Given the description of an element on the screen output the (x, y) to click on. 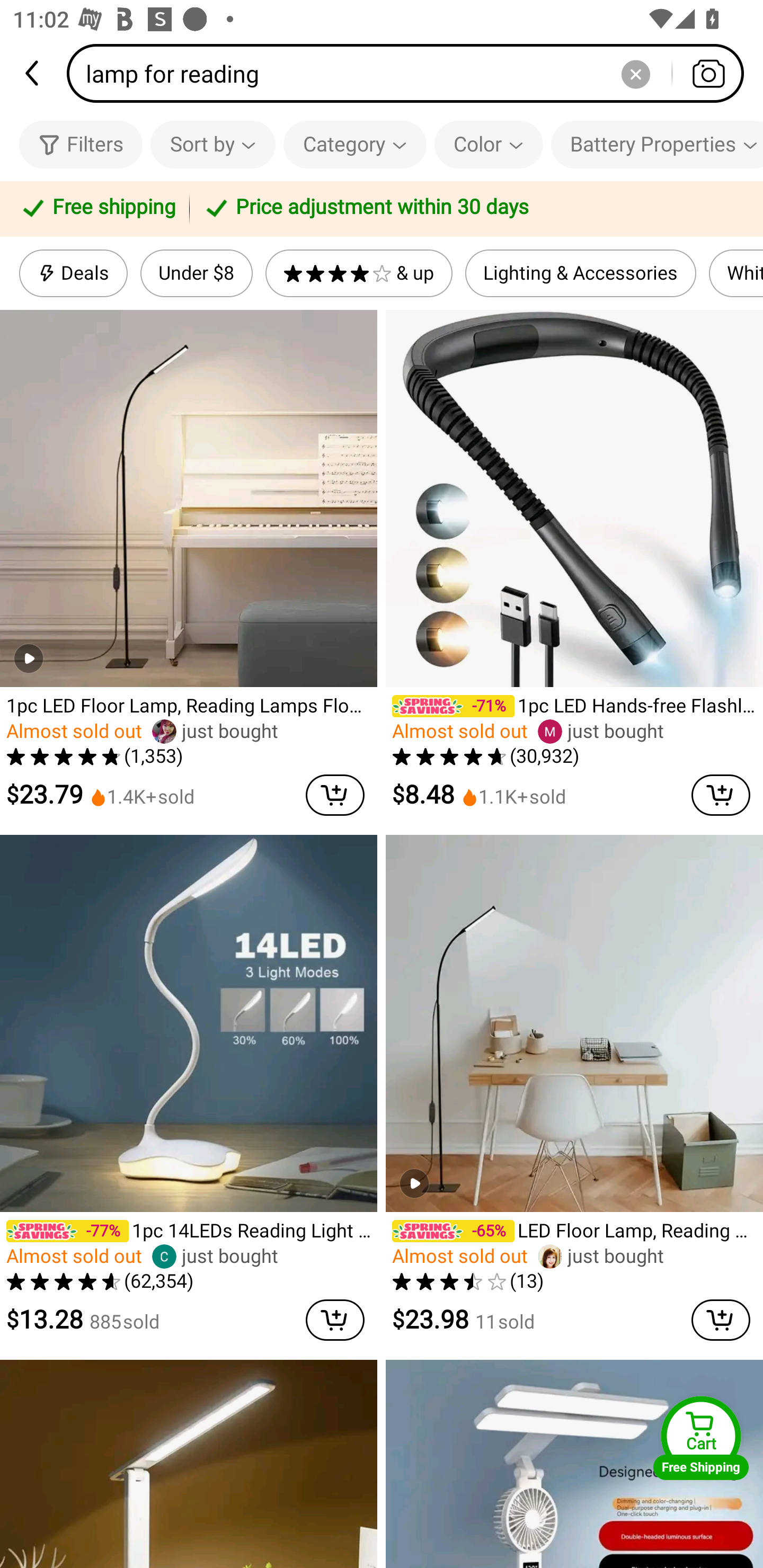
back (33, 72)
lamp for reading (411, 73)
Delete search history (635, 73)
Search by photo (708, 73)
Filters (80, 143)
Sort by (212, 143)
Category (354, 143)
Color (488, 143)
Battery Properties (656, 143)
Free shipping (97, 208)
Price adjustment within 30 days (472, 208)
Deals (73, 273)
Under $8 (196, 273)
& up (358, 273)
Lighting & Accessories (580, 273)
cart delete (334, 794)
cart delete (720, 794)
cart delete (334, 1319)
cart delete (720, 1319)
Cart Free Shipping Cart (701, 1437)
